Given the description of an element on the screen output the (x, y) to click on. 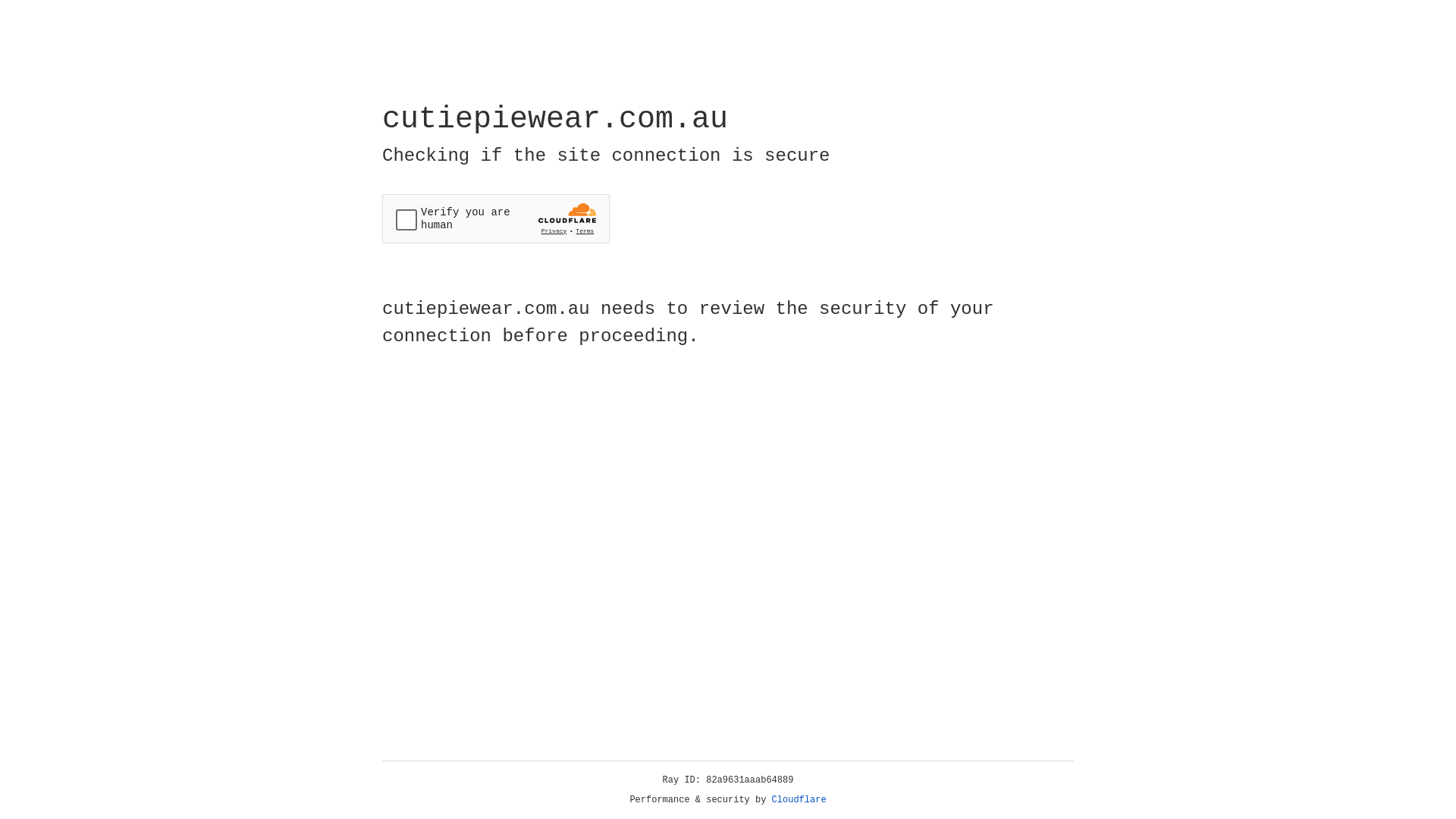
Widget containing a Cloudflare security challenge Element type: hover (495, 218)
Cloudflare Element type: text (798, 799)
